Given the description of an element on the screen output the (x, y) to click on. 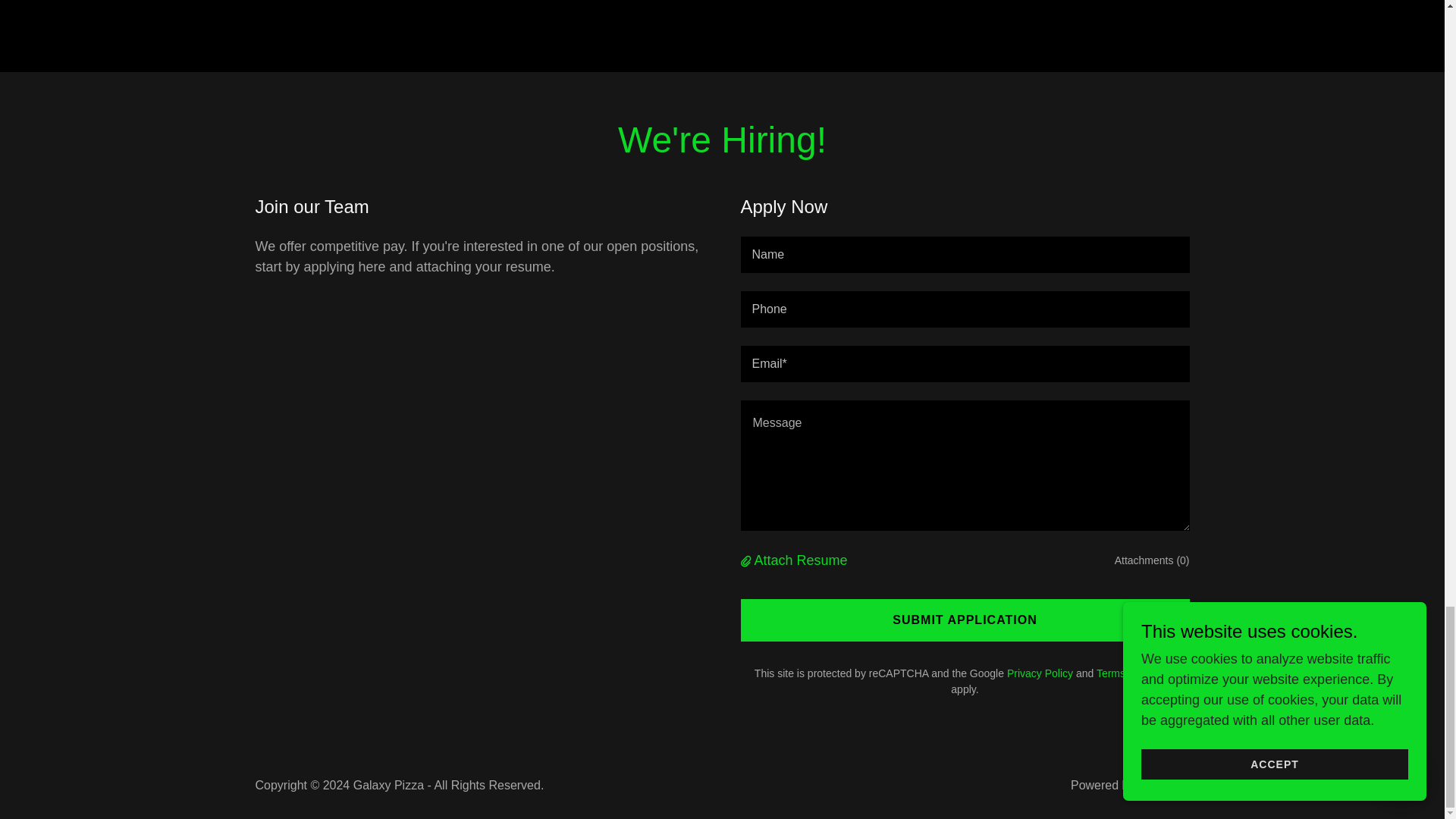
Terms of Service (1135, 673)
Privacy Policy (1040, 673)
GoDaddy (1163, 784)
SUBMIT APPLICATION (964, 619)
